Given the description of an element on the screen output the (x, y) to click on. 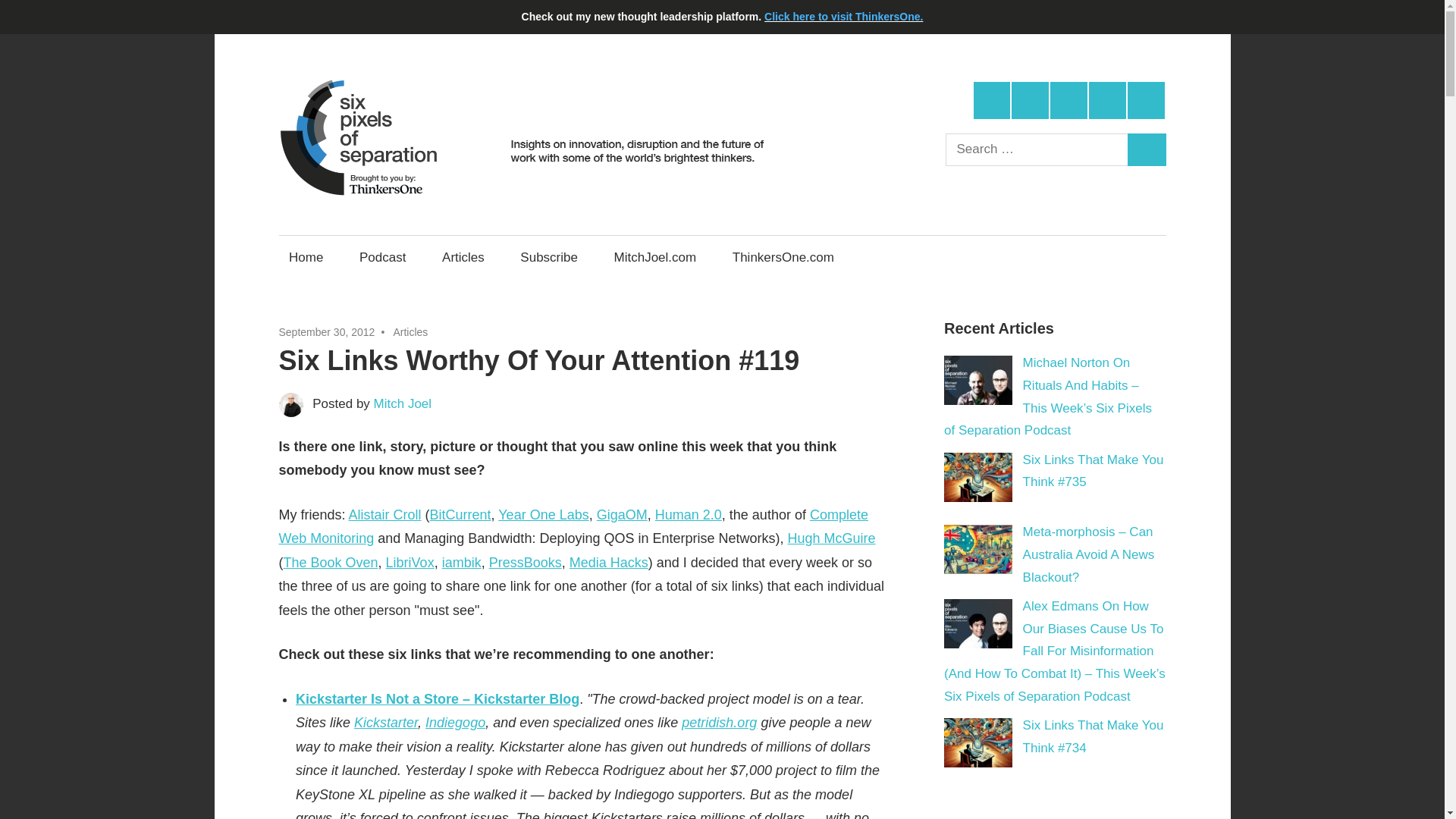
Subscribe (549, 257)
Articles (462, 257)
Click here to visit ThinkersOne. (843, 16)
LibriVox (409, 562)
GigaOM (621, 514)
MitchJoel.com (655, 257)
Home (306, 257)
8:07 am (327, 331)
Year One Labs (542, 514)
Facebook (1029, 99)
Indiegogo (454, 722)
BitCurrent (460, 514)
petridish.org (719, 722)
Instagram (1107, 99)
Search (1146, 149)
